Given the description of an element on the screen output the (x, y) to click on. 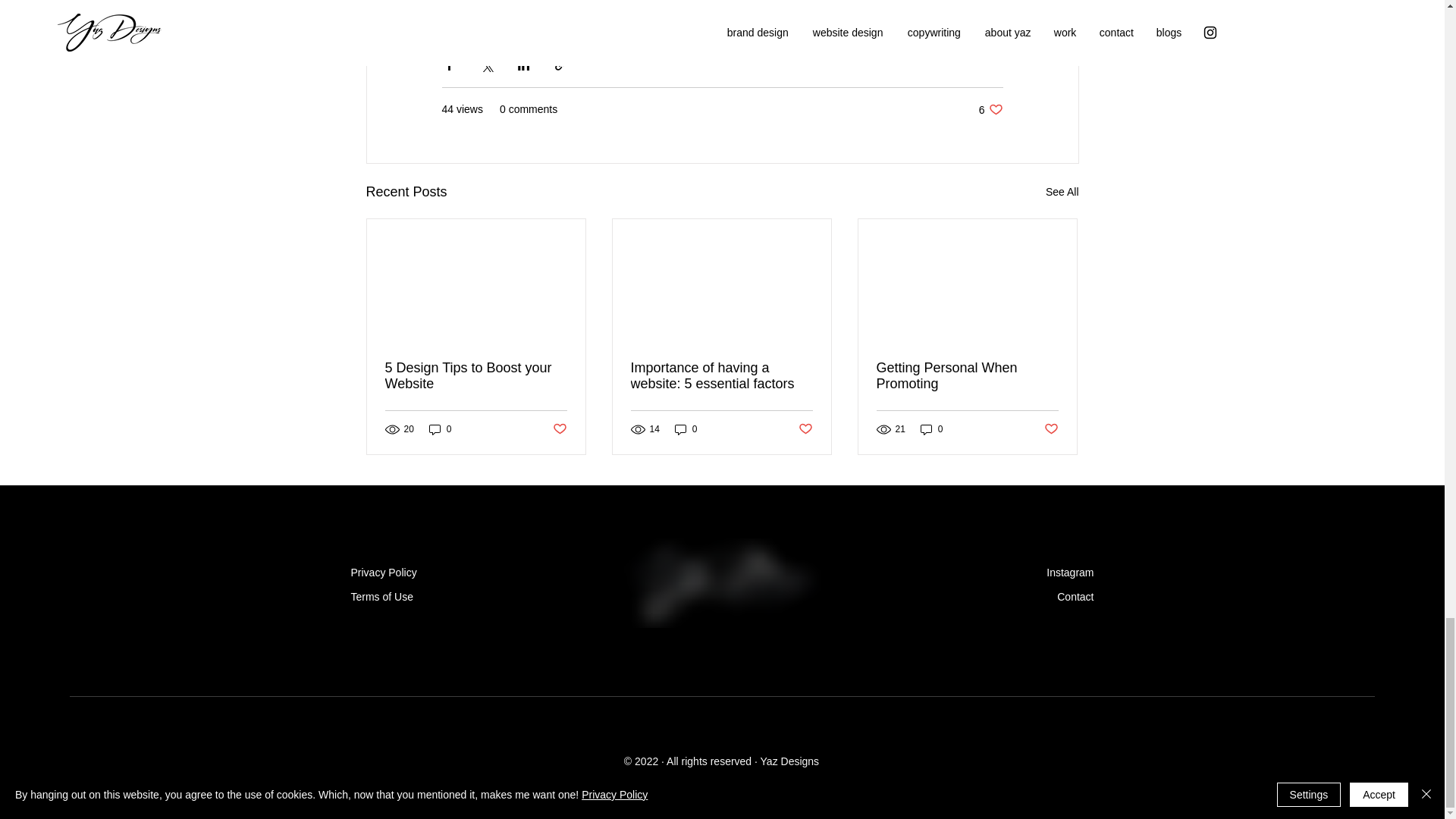
Getting Personal When Promoting (967, 376)
Privacy Policy (383, 572)
Contact (1075, 596)
See All (1061, 191)
0 (931, 429)
Instagram (1069, 572)
Terms of Use (381, 596)
0 (685, 429)
Post not marked as liked (804, 429)
Importance of having a website: 5 essential factors (721, 376)
